Given the description of an element on the screen output the (x, y) to click on. 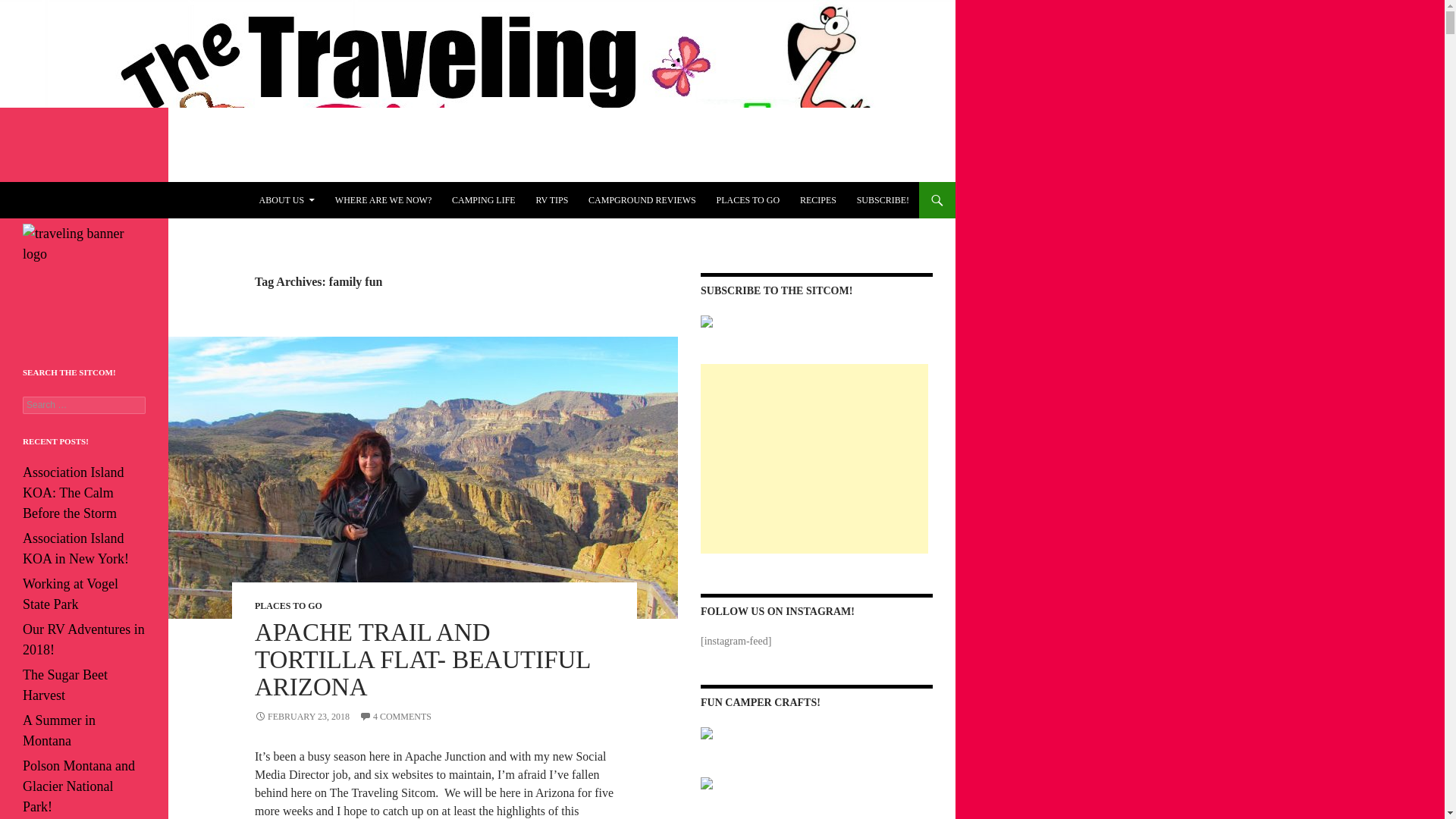
Advertisement (814, 458)
PLACES TO GO (748, 199)
ABOUT US (286, 199)
Subscribe! (882, 199)
4 COMMENTS (394, 716)
FEBRUARY 23, 2018 (301, 716)
SUBSCRIBE! (882, 199)
APACHE TRAIL AND TORTILLA FLAT- BEAUTIFUL ARIZONA (421, 660)
PLACES TO GO (287, 605)
The Traveling Sitcom (85, 199)
CAMPGROUND REVIEWS (641, 199)
CAMPING LIFE (483, 199)
WHERE ARE WE NOW? (383, 199)
